Given the description of an element on the screen output the (x, y) to click on. 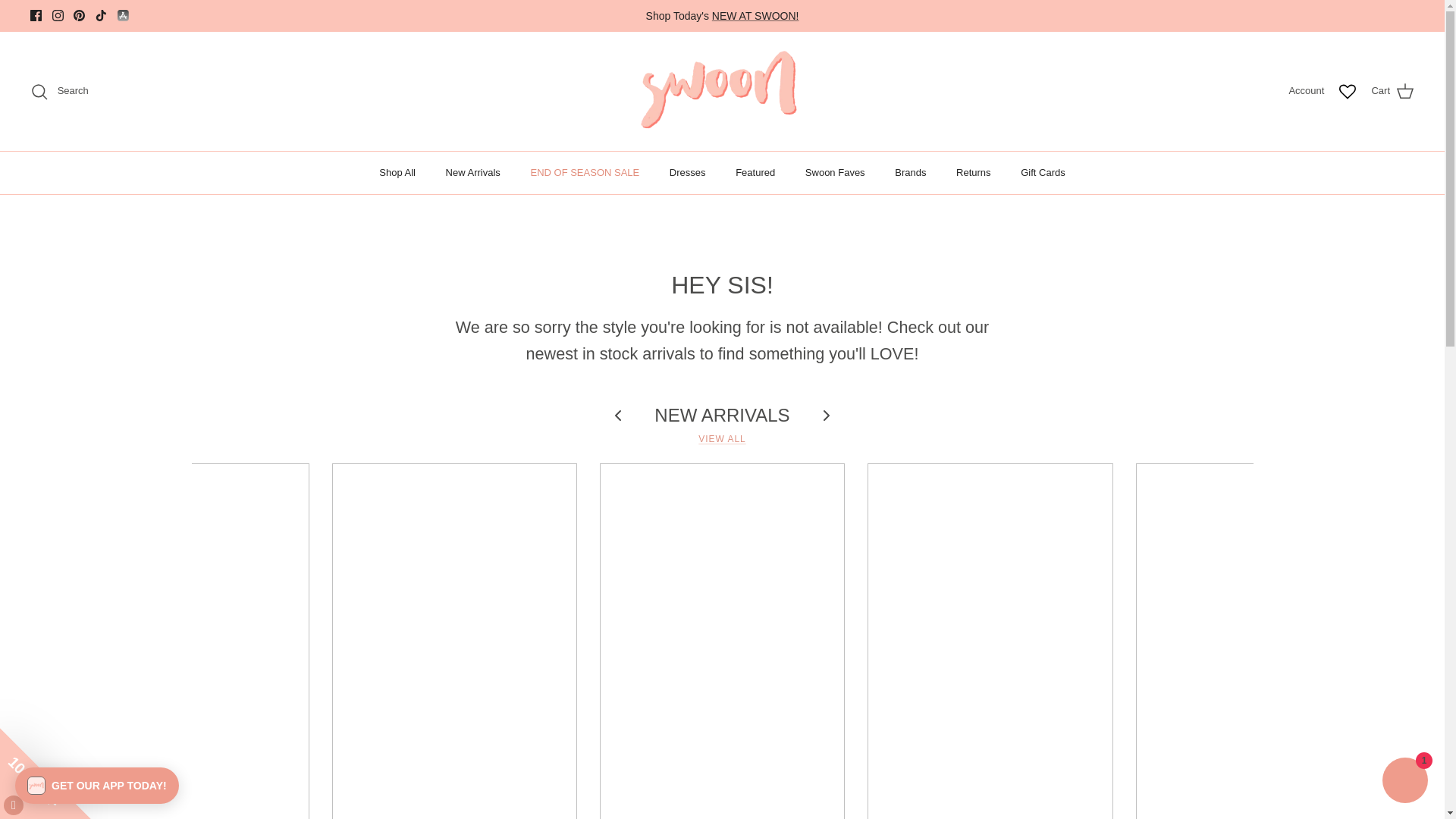
Cart (1392, 91)
NEW AT SWOON! (755, 15)
Pinterest (79, 15)
Instagram (58, 15)
Search (59, 91)
Account (1305, 91)
Shop All (397, 172)
New Arrivals (755, 15)
Facebook (36, 15)
Instagram (58, 15)
Shopify online store chat (1404, 781)
Facebook (36, 15)
Swoon Boutique New Orleans (722, 90)
Pinterest (79, 15)
